Given the description of an element on the screen output the (x, y) to click on. 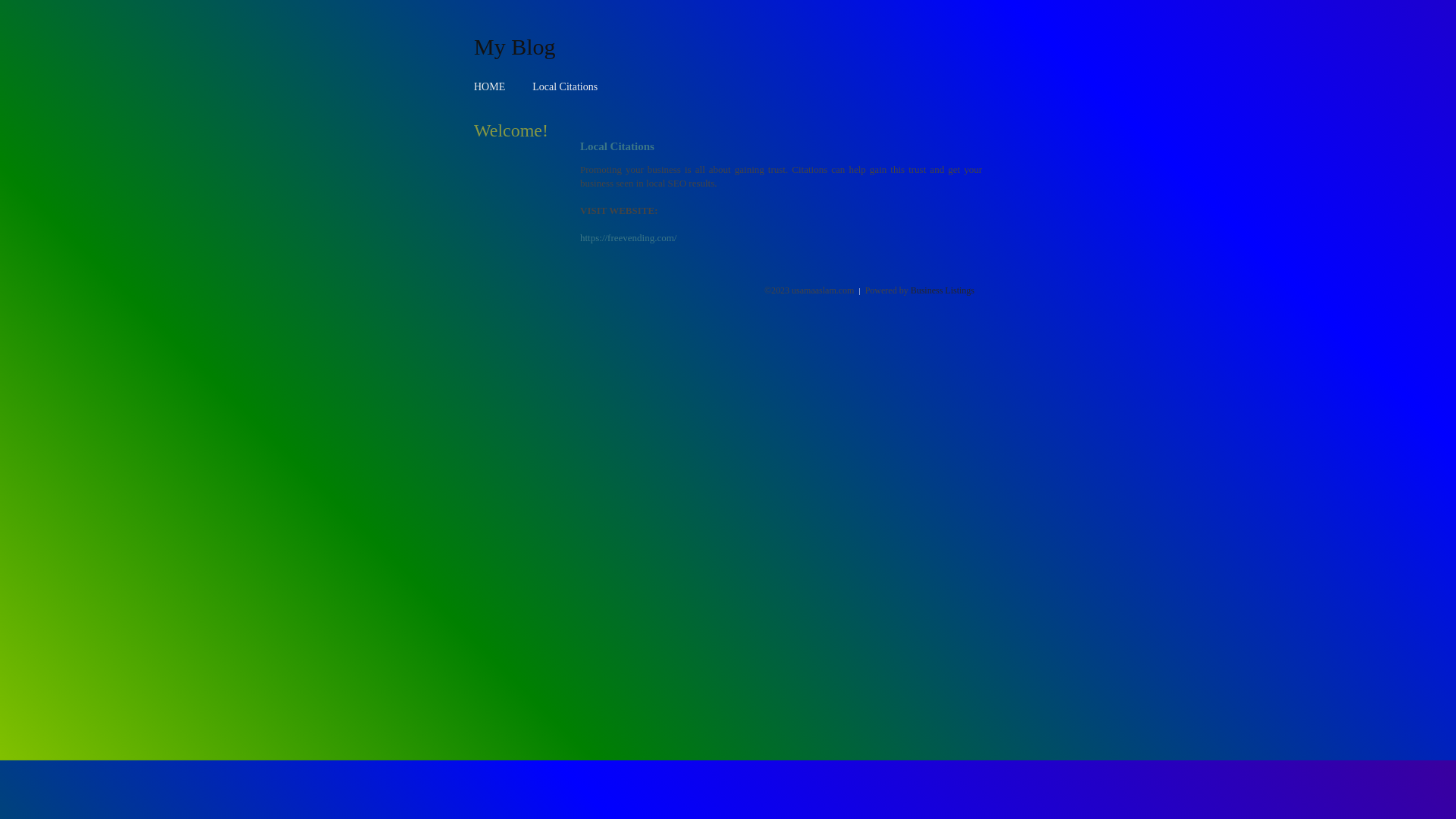
My Blog Element type: text (514, 46)
https://freevending.com/ Element type: text (628, 237)
Business Listings Element type: text (942, 290)
Local Citations Element type: text (564, 86)
HOME Element type: text (489, 86)
